Given the description of an element on the screen output the (x, y) to click on. 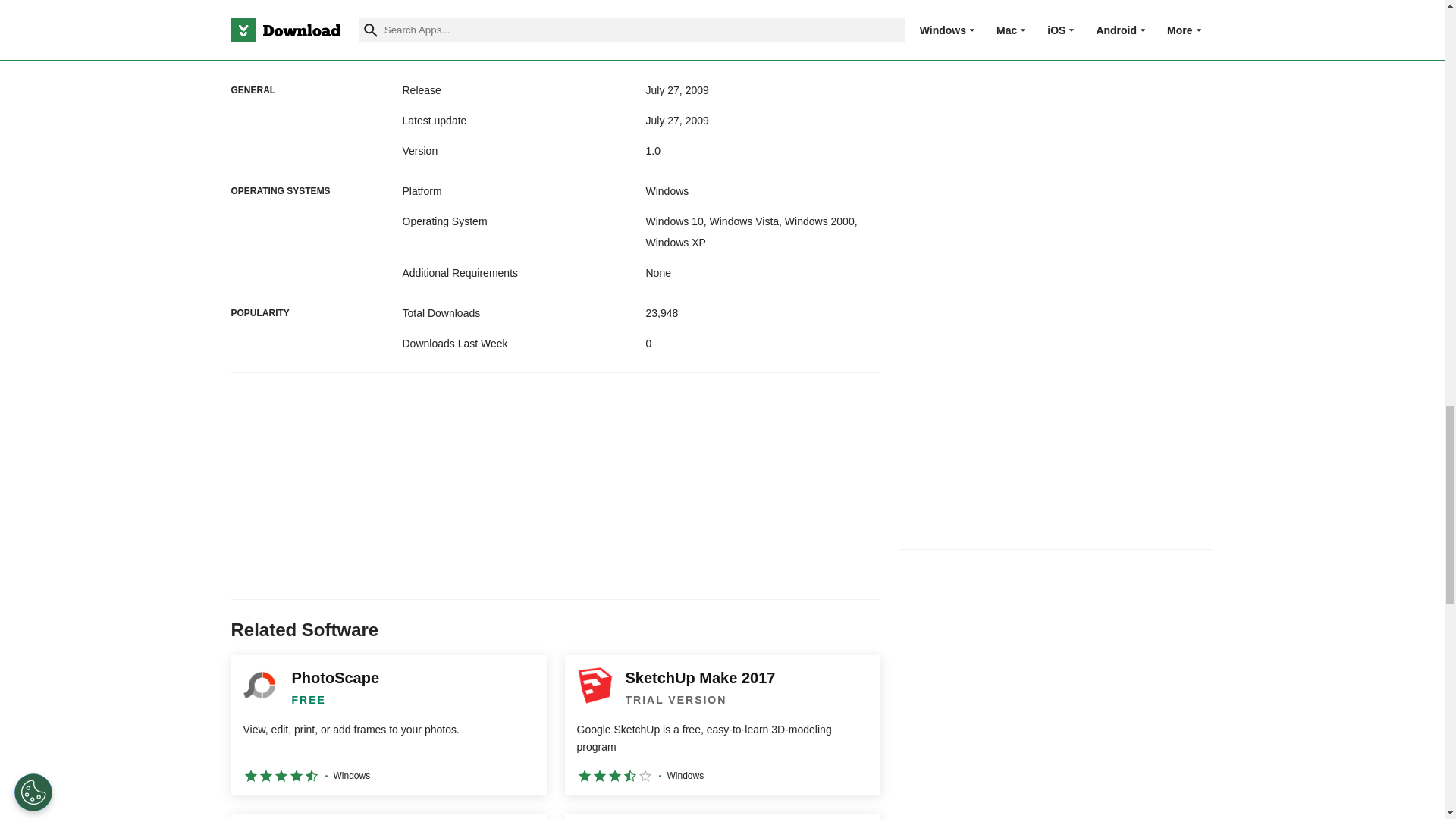
PhotoScape (388, 725)
Free Photo Viewer (388, 816)
SketchUp Make 2017 (721, 725)
